Given the description of an element on the screen output the (x, y) to click on. 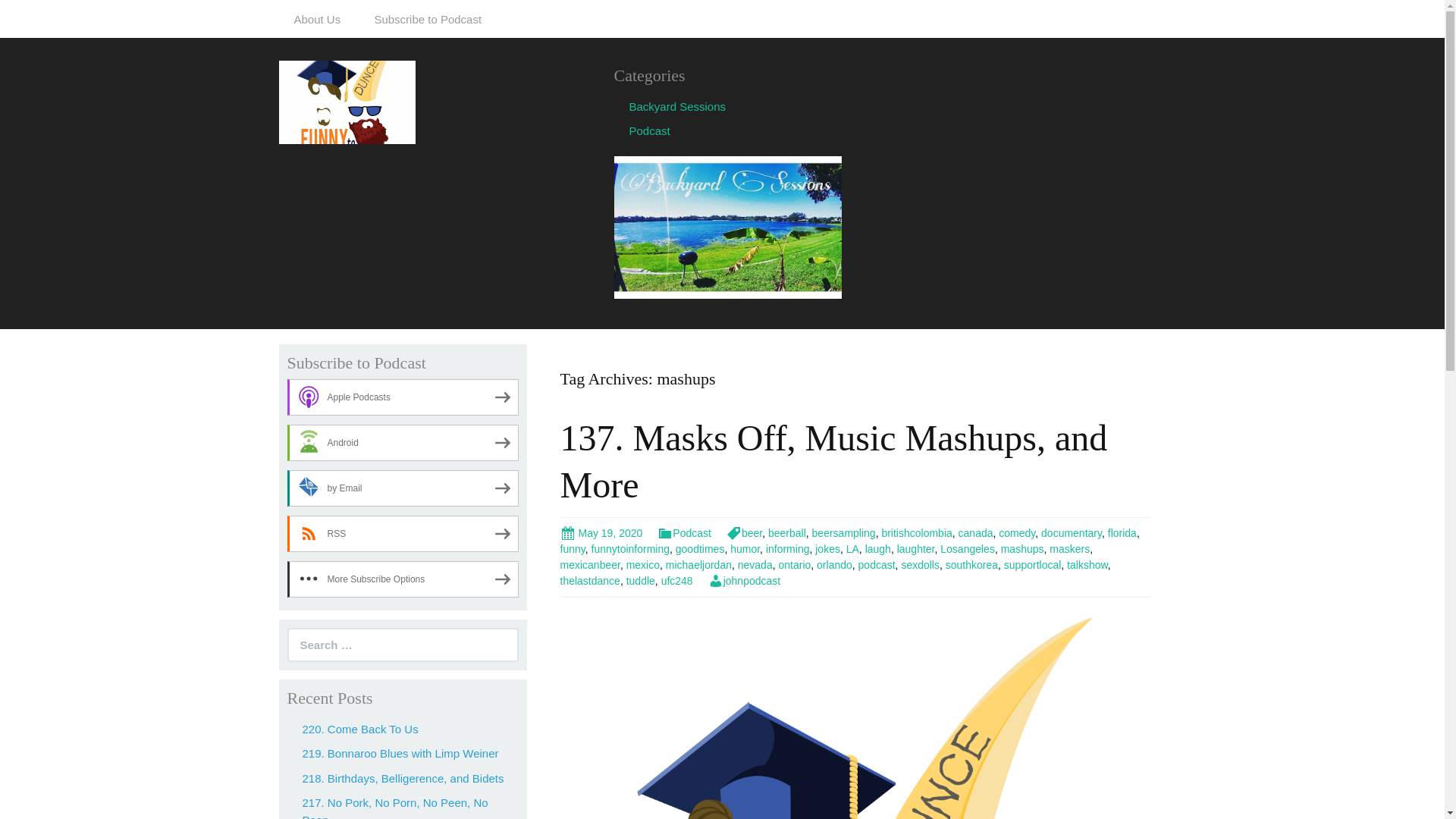
michaeljordan (698, 564)
laugh (877, 548)
Permalink to 137. Masks Off, Music Mashups, and More (600, 532)
sexdolls (920, 564)
orlando (833, 564)
Podcast (648, 130)
beersampling (844, 532)
informing (787, 548)
southkorea (970, 564)
Subscribe by Email (402, 488)
Subscribe via RSS (402, 533)
funnytoinforming (630, 548)
maskers (1069, 548)
Subscribe on Android (402, 443)
nevada (755, 564)
